Given the description of an element on the screen output the (x, y) to click on. 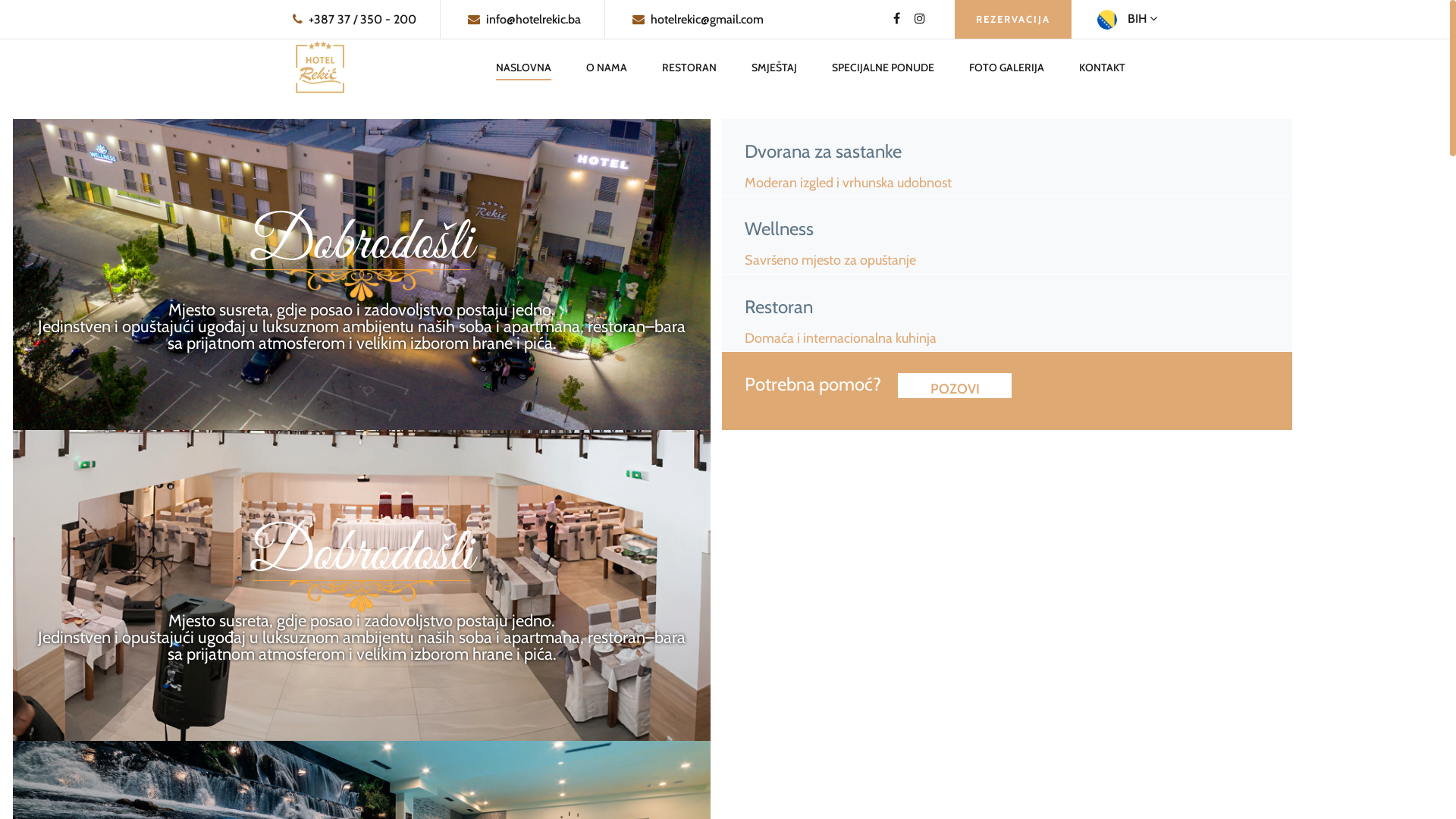
info@hotelrekic.ba Element type: text (523, 19)
KONTAKT Element type: text (1102, 67)
+387 37 / 350 - 200 Element type: text (354, 19)
REZERVACIJA Element type: text (1012, 19)
O NAMA Element type: text (606, 67)
hotelrekic@gmail.com Element type: text (697, 19)
BIH Element type: text (1127, 18)
NASLOVNA Element type: text (523, 67)
FOTO GALERIJA Element type: text (1006, 67)
SPECIJALNE PONUDE Element type: text (882, 67)
RESTORAN Element type: text (689, 67)
